Given the description of an element on the screen output the (x, y) to click on. 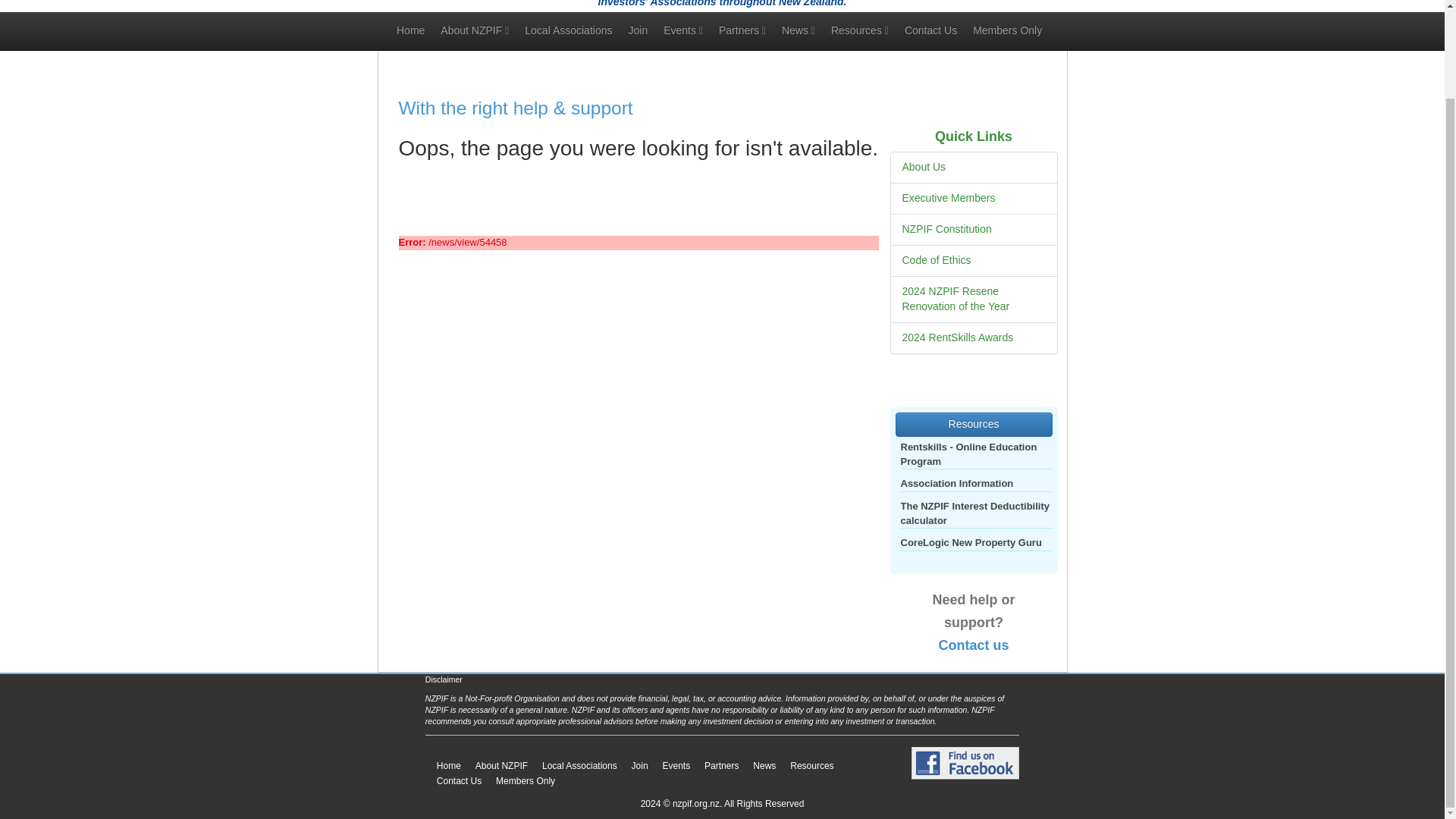
Members Only (1007, 30)
Executive Members (948, 197)
Join (638, 30)
About NZPIF (474, 30)
Local Associations (568, 30)
Contact Us (929, 30)
Partners (742, 30)
Home (410, 30)
Resources (859, 30)
News (797, 30)
